Given the description of an element on the screen output the (x, y) to click on. 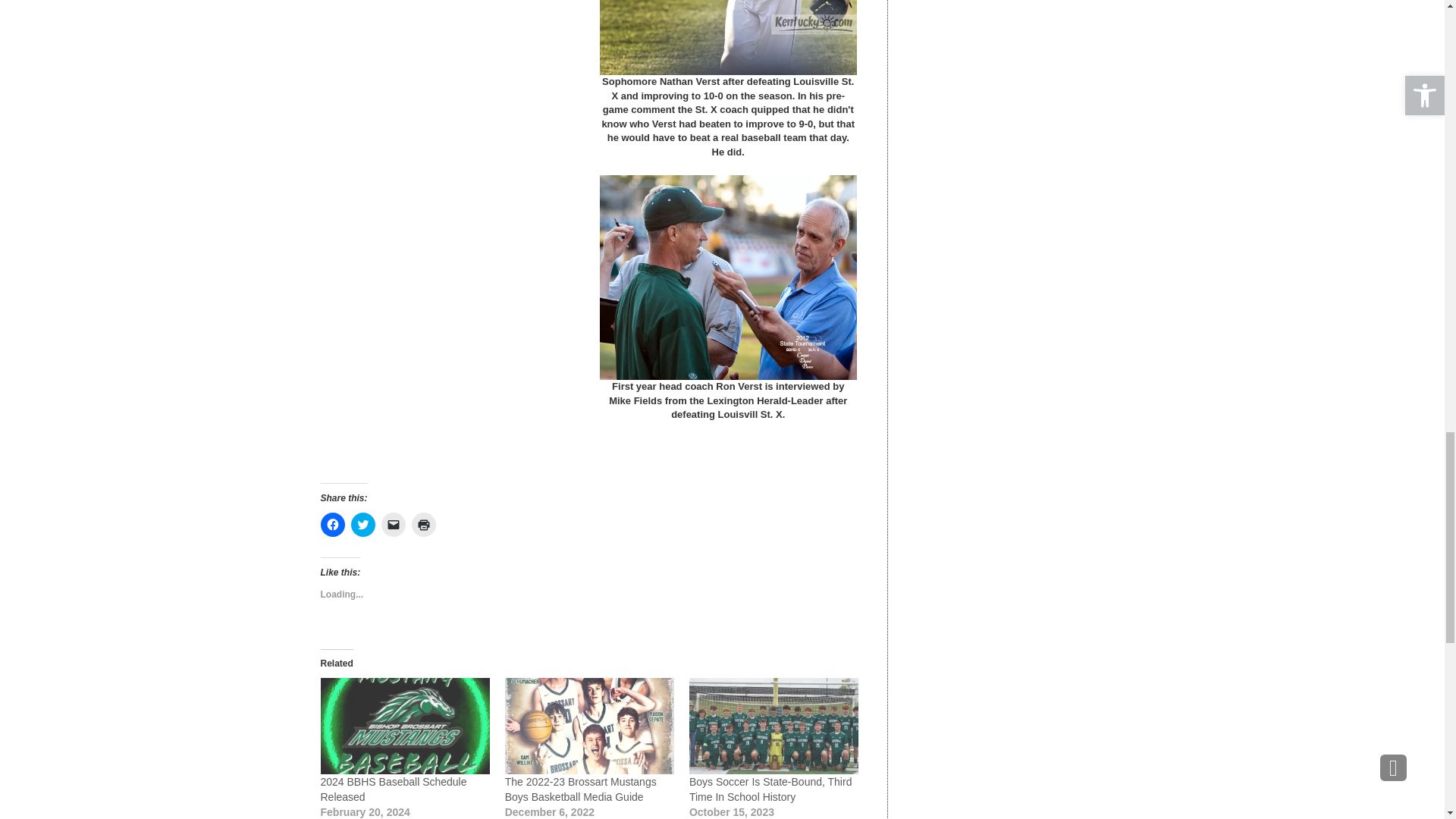
Click to share on Twitter (362, 524)
Click to print (422, 524)
Click to email a link to a friend (392, 524)
2024 BBHS Baseball Schedule Released (404, 726)
Click to share on Facebook (331, 524)
